Given the description of an element on the screen output the (x, y) to click on. 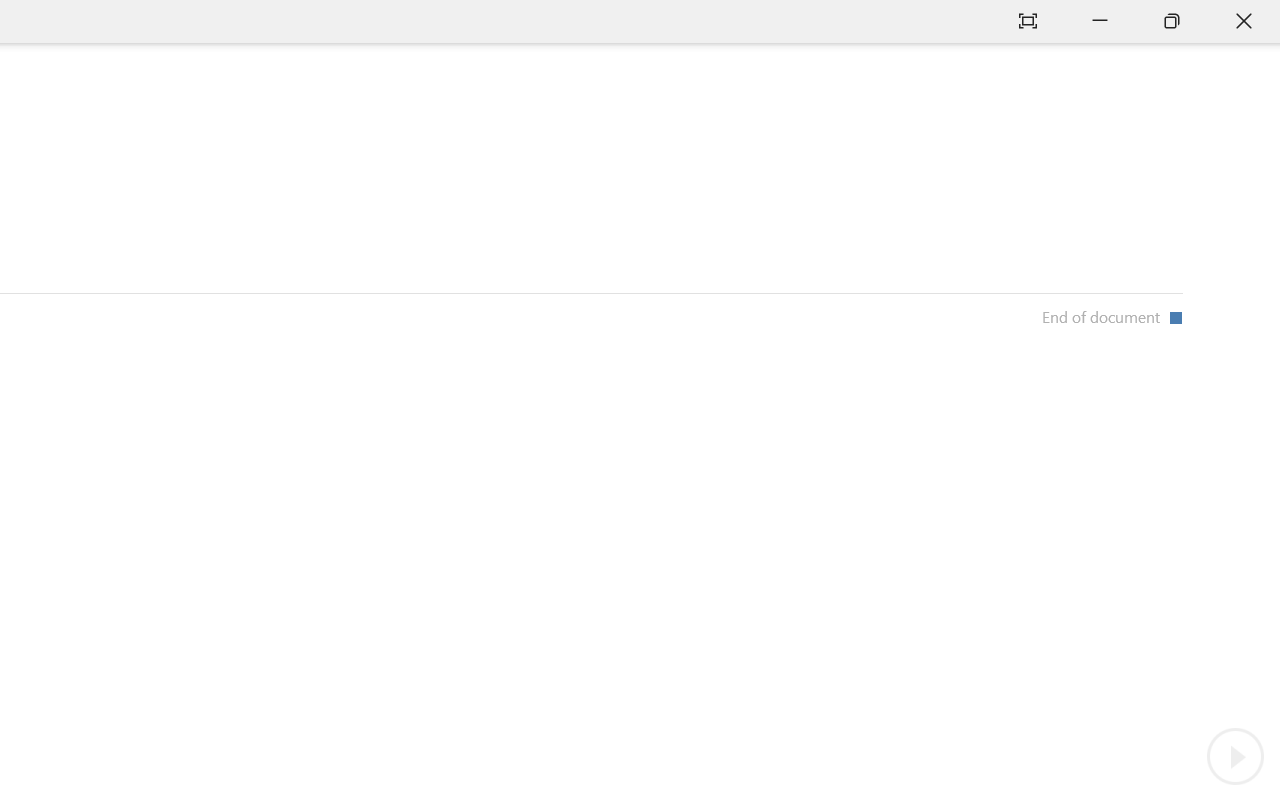
Auto-hide Reading Toolbar (1027, 21)
